Given the description of an element on the screen output the (x, y) to click on. 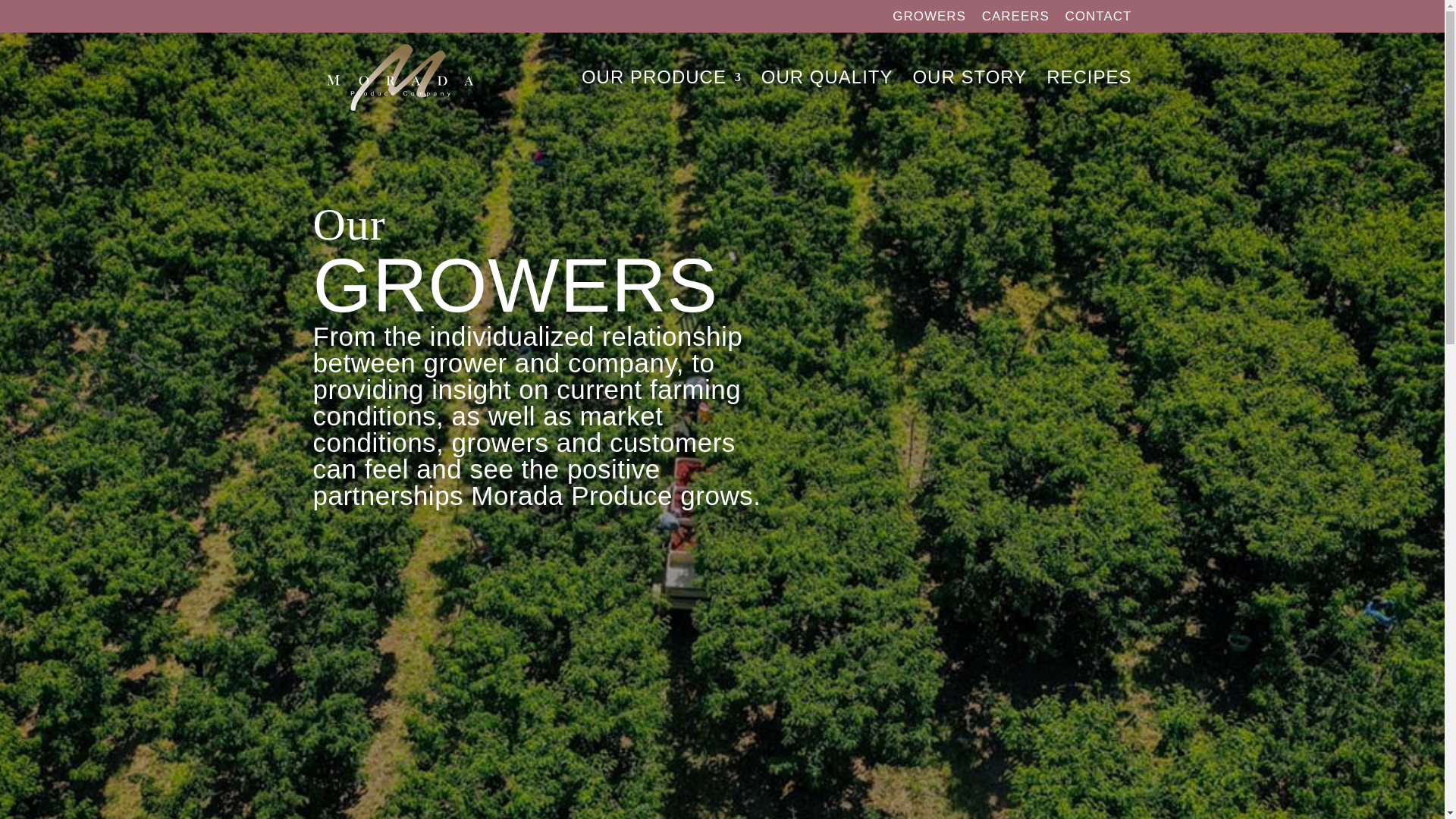
OUR STORY (969, 96)
CAREERS (1015, 20)
OUR QUALITY (827, 96)
CONTACT (1098, 20)
RECIPES (1088, 96)
GROWERS (929, 20)
OUR PRODUCE (660, 96)
